Given the description of an element on the screen output the (x, y) to click on. 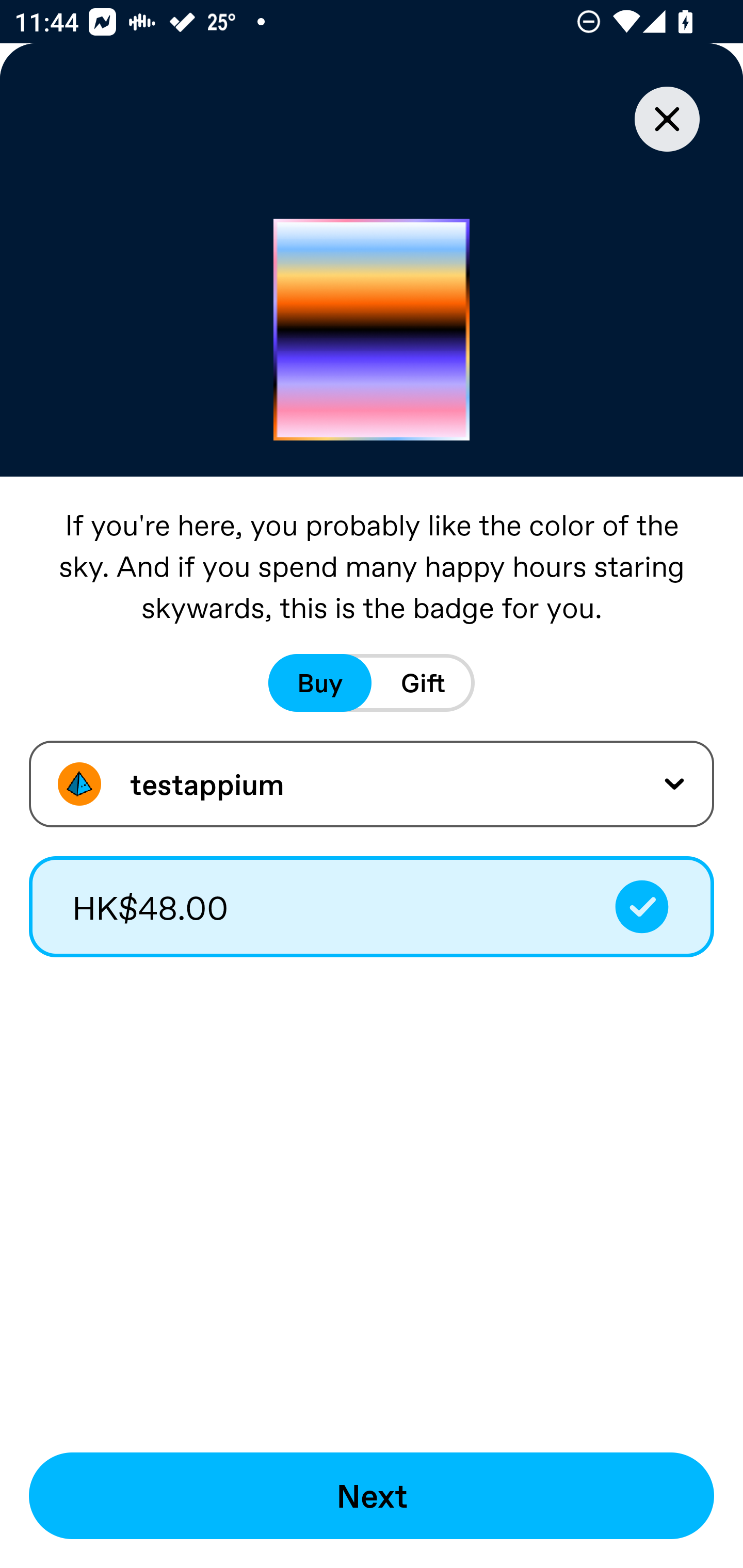
Buy (319, 682)
Gift (423, 682)
testappium (371, 783)
Next (371, 1495)
